Given the description of an element on the screen output the (x, y) to click on. 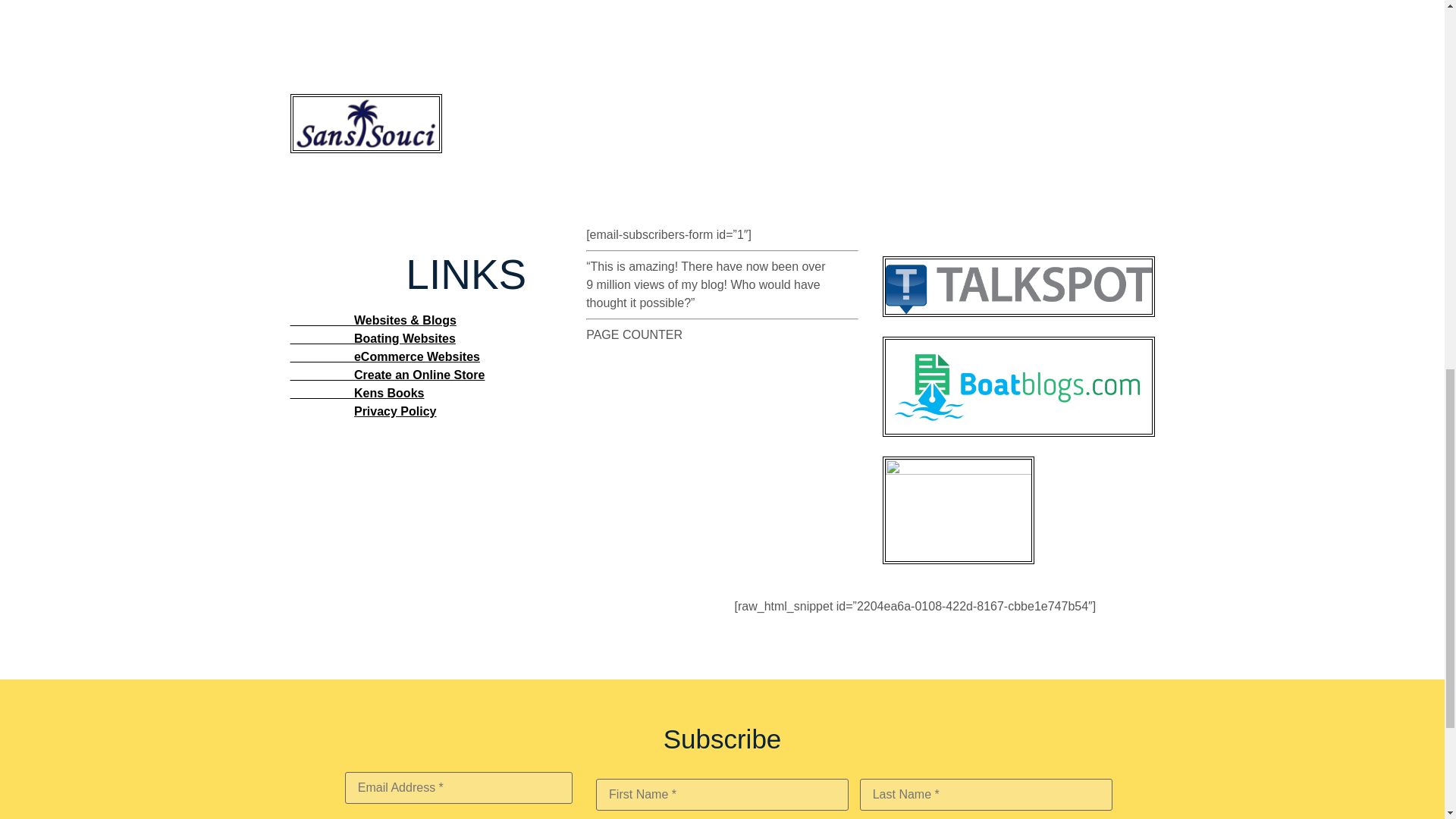
Privacy Policy (394, 410)
                   Kens Books (356, 392)
                   Boating Websites (371, 338)
                   Create an Online Store (386, 374)
                   eCommerce Websites (384, 356)
